Given the description of an element on the screen output the (x, y) to click on. 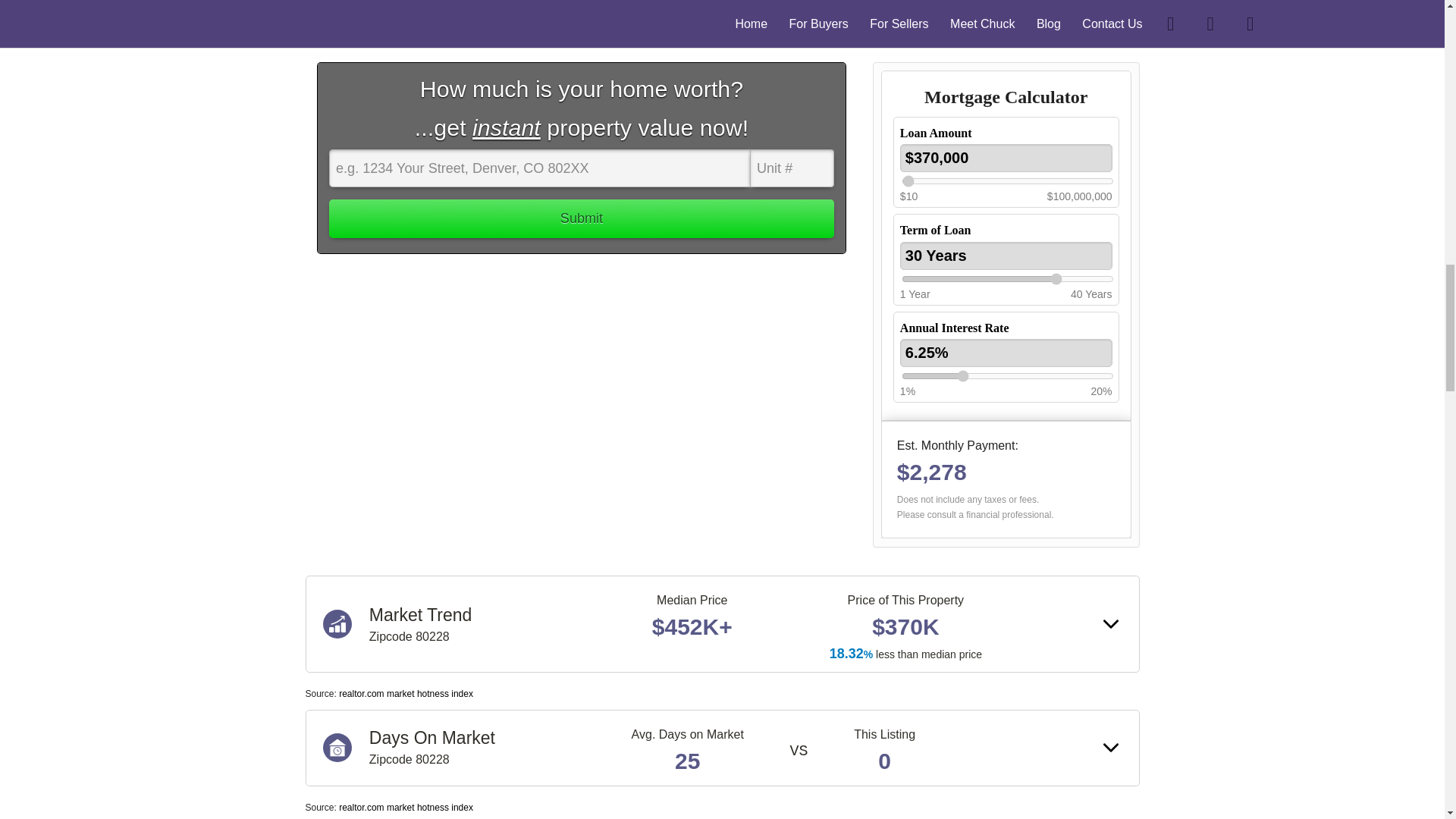
6.25 (1007, 376)
370000 (1007, 181)
30 (1007, 278)
30 Years (1005, 255)
